Given the description of an element on the screen output the (x, y) to click on. 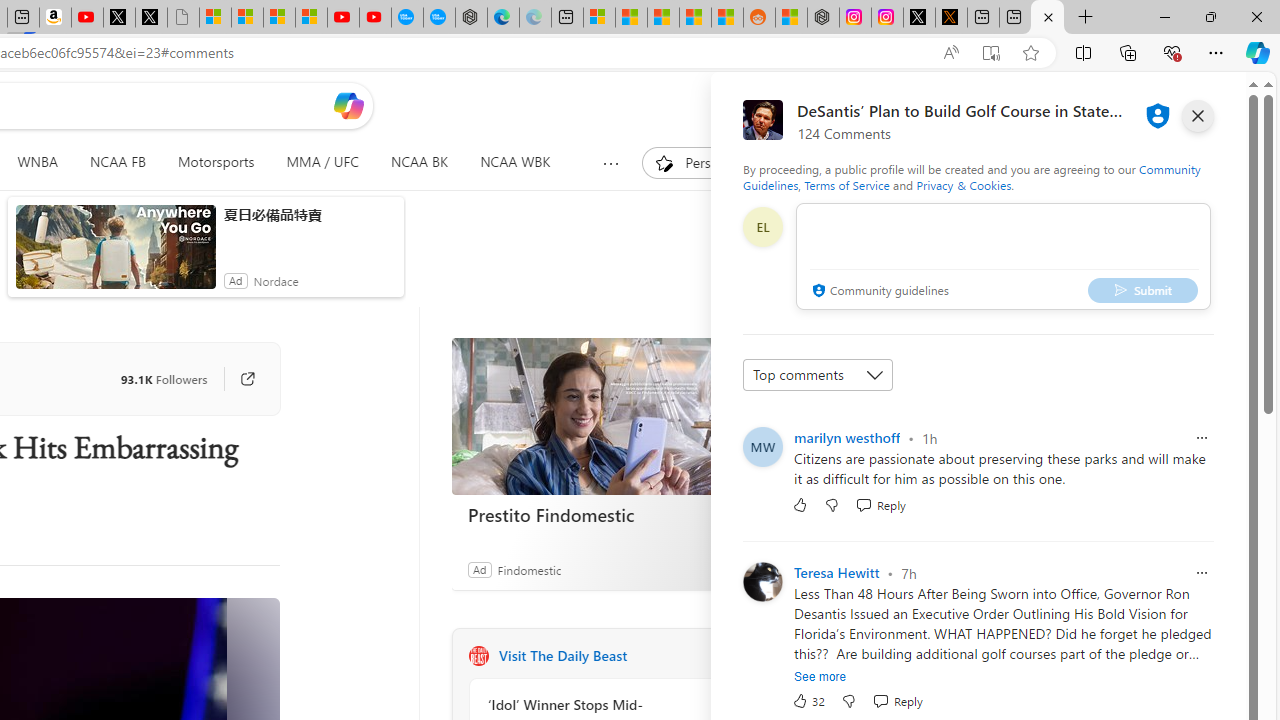
Dislike (848, 700)
Teresa Hewitt (836, 573)
See more (820, 677)
Motorsports (215, 162)
WNBA (38, 162)
Read aloud this page (Ctrl+Shift+U) (950, 53)
Community guidelines (878, 291)
MMA / UFC (321, 162)
Log in to X / X (919, 17)
Untitled (182, 17)
The Daily Beast (478, 655)
Microsoft rewards (1137, 105)
